Given the description of an element on the screen output the (x, y) to click on. 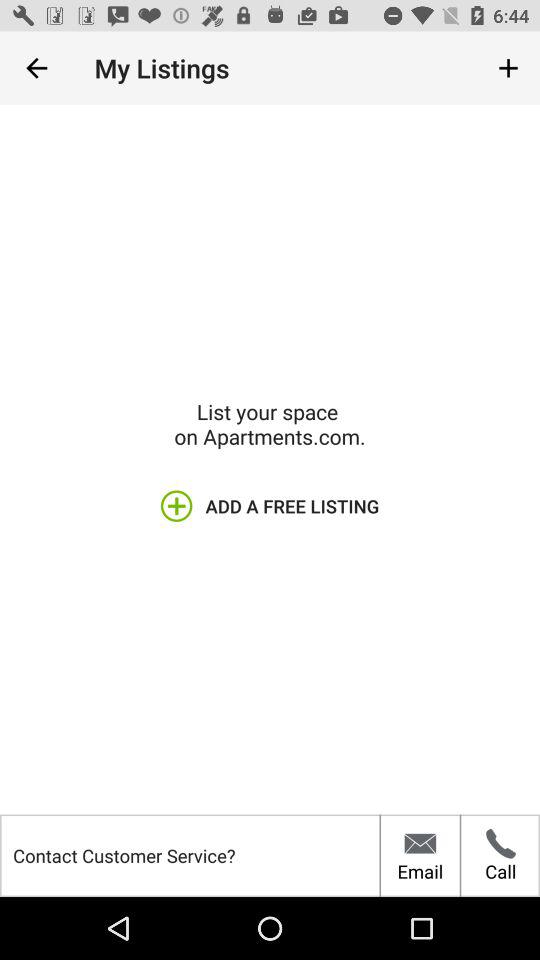
open the item below the add a free icon (420, 855)
